Given the description of an element on the screen output the (x, y) to click on. 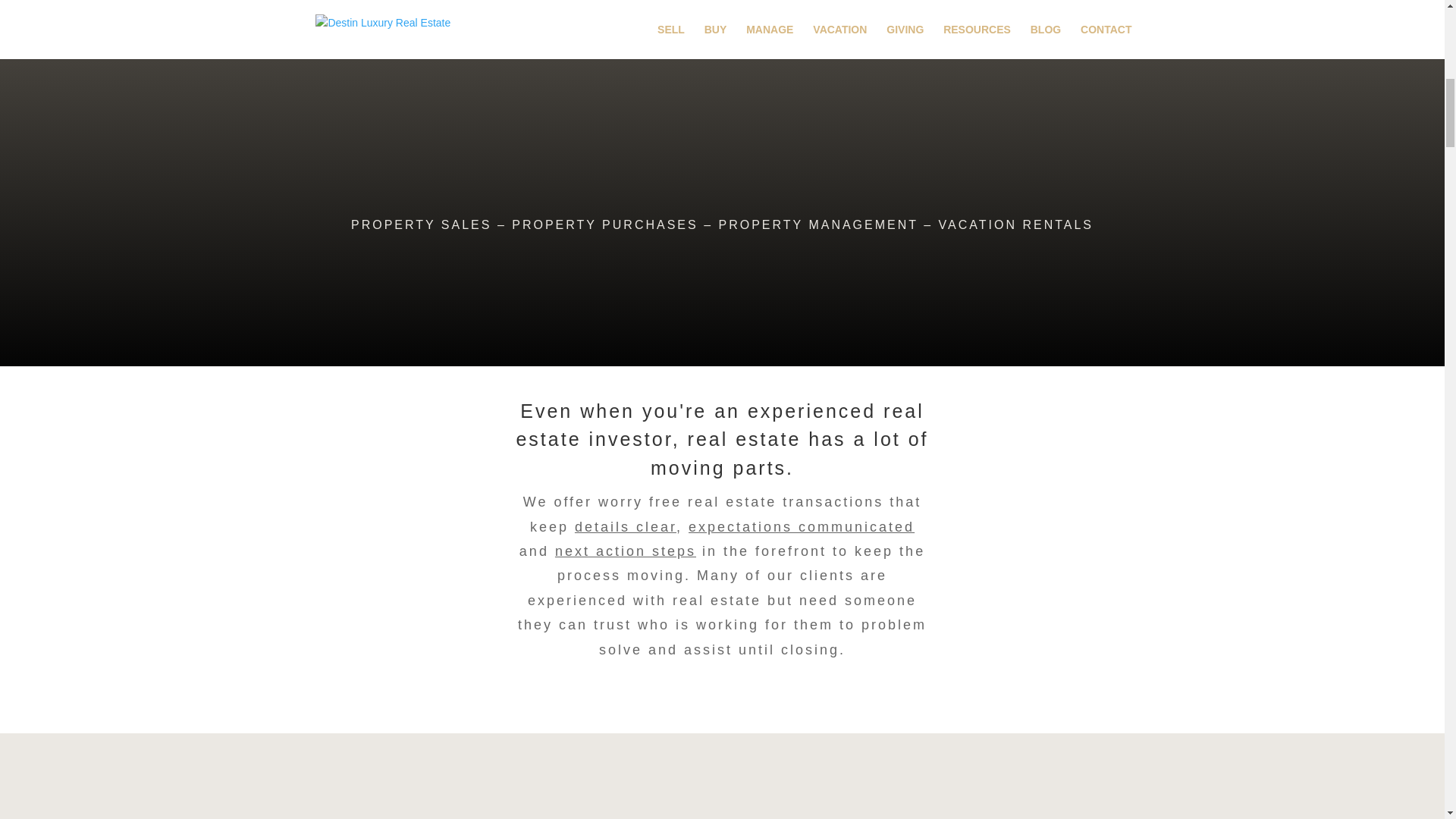
PROPERTY MANAGEMENT (818, 224)
PROPERTY PURCHASES (604, 224)
VACATION RENTALS (1016, 224)
PROPERTY SALES (421, 224)
